Given the description of an element on the screen output the (x, y) to click on. 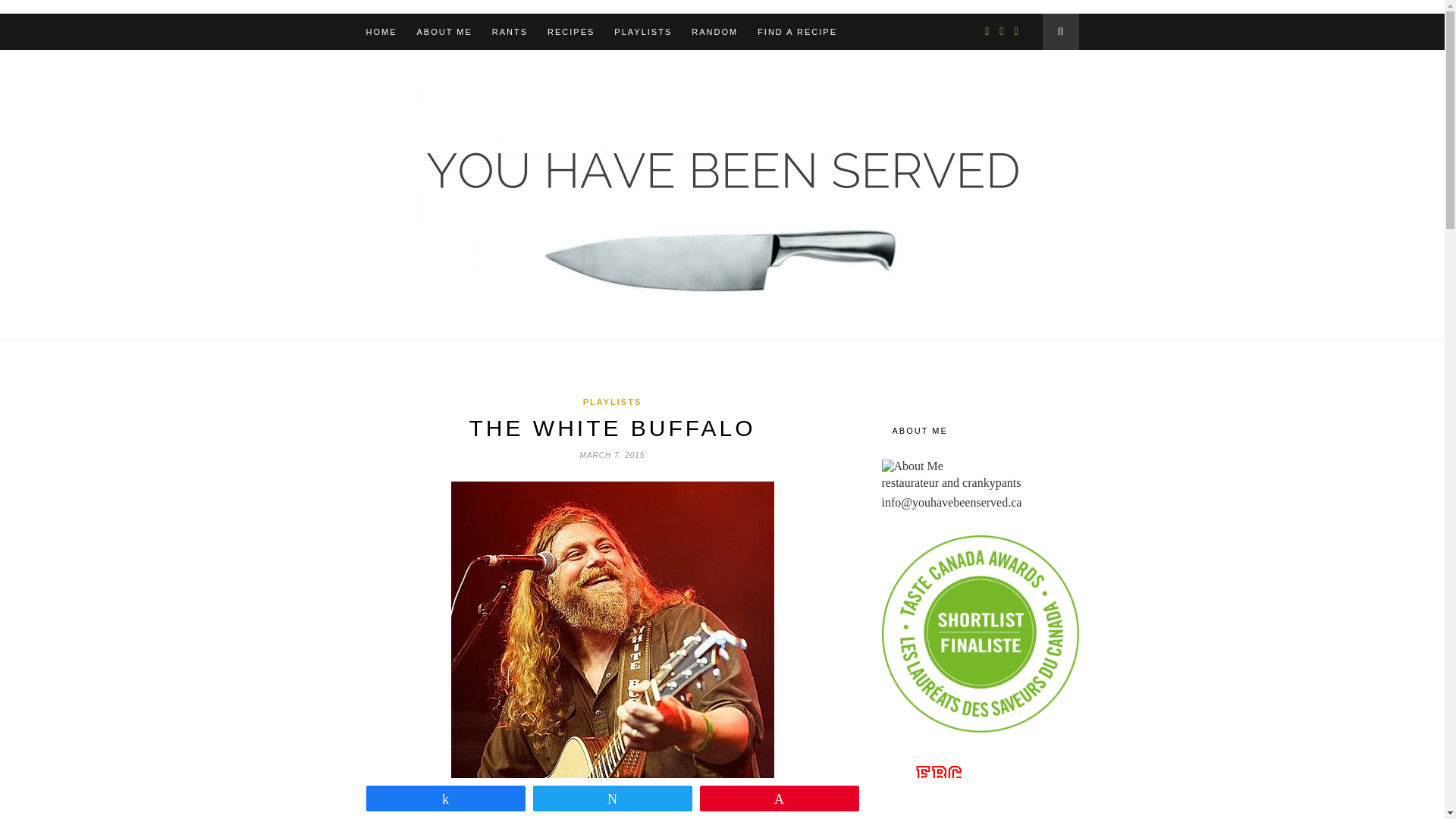
PLAYLISTS (642, 31)
RANDOM (714, 31)
PLAYLISTS (612, 401)
View all posts in Playlists (612, 401)
RANTS (509, 31)
RECIPES (570, 31)
ABOUT ME (443, 31)
FIND A RECIPE (797, 31)
